Given the description of an element on the screen output the (x, y) to click on. 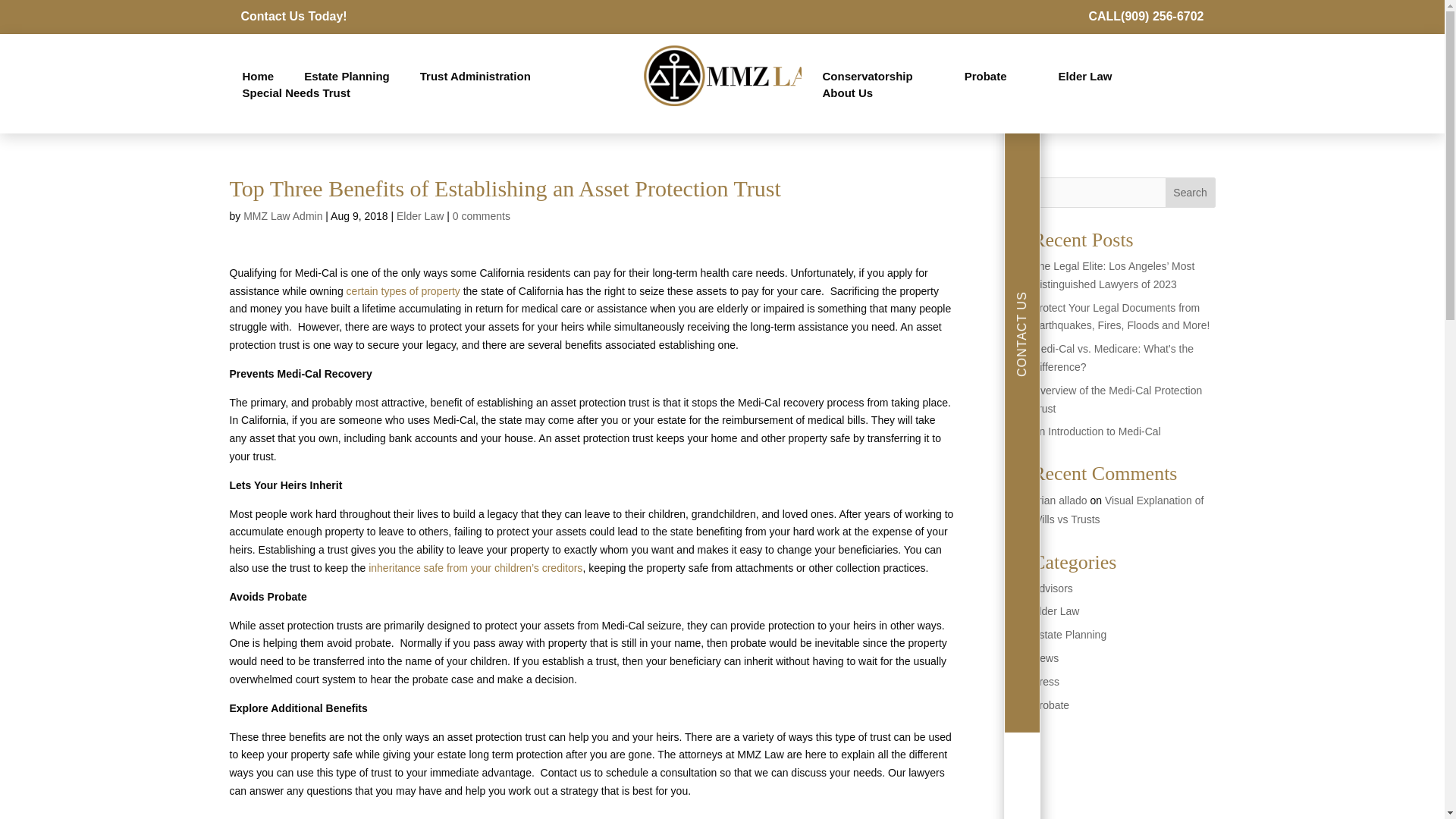
Trust Administration (475, 76)
Elder Law (420, 215)
Posts by MMZ Law Admin (282, 215)
MMZ Law Admin (282, 215)
Elder Law (1085, 76)
Conservatorship (866, 76)
0 comments (481, 215)
Contact Us Today! (294, 15)
Home (257, 76)
About Us (846, 92)
